Given the description of an element on the screen output the (x, y) to click on. 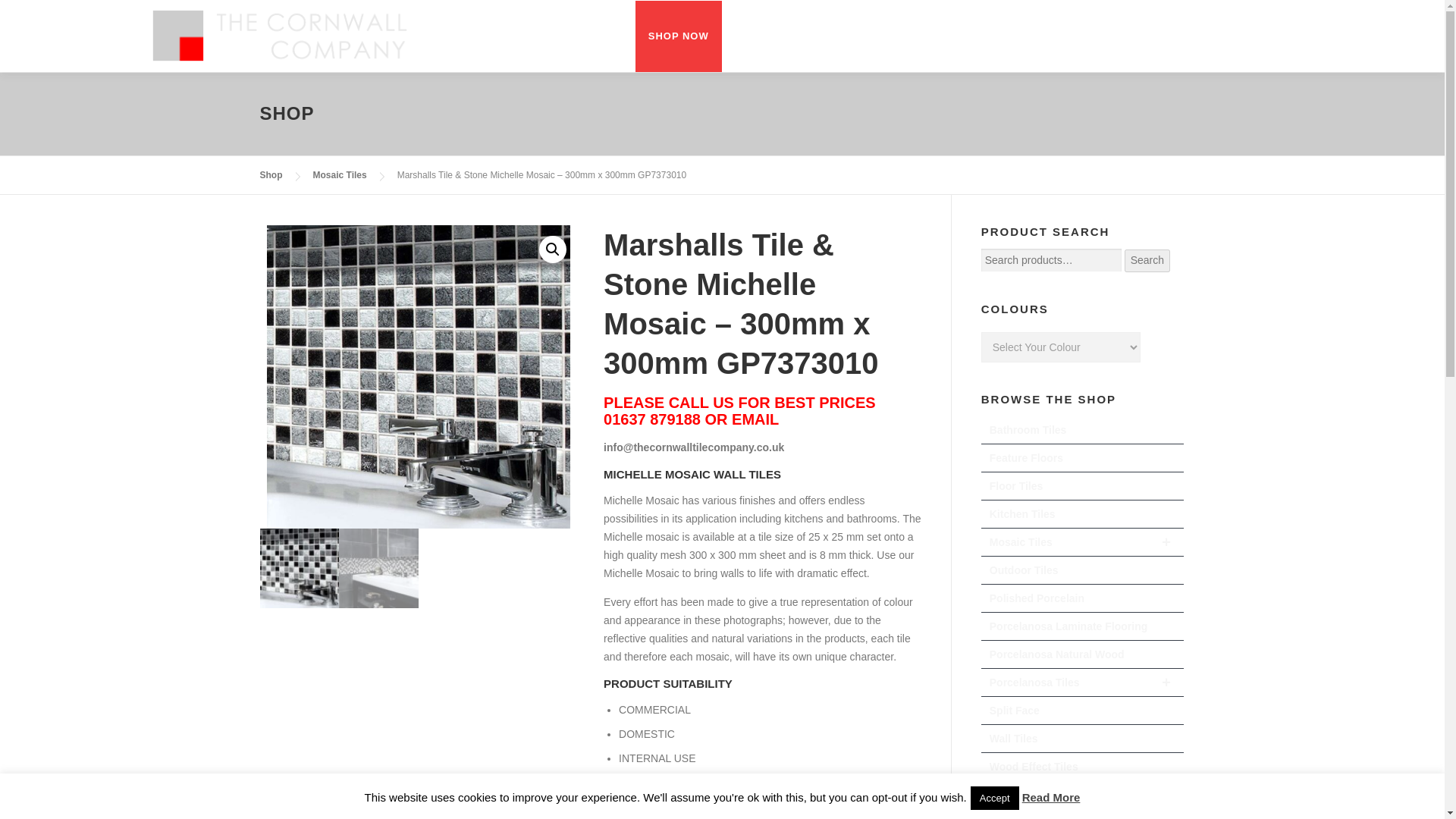
Bathroom Tiles (1083, 430)
Floor Tiles (1083, 486)
CONTACT (1185, 36)
THE SHOWROOM (1090, 36)
Kitchen Tiles (1083, 514)
TILES (814, 36)
Go to the Mosaic Tiles Product Category archives. (339, 174)
Feature Floors (1083, 458)
Outdoor Tiles (1083, 570)
BRANDS (881, 36)
HOME (754, 36)
Porcelanosa Natural Wood (1083, 654)
Porcelanosa Laminate Flooring (1083, 626)
Mosaic Tiles (339, 174)
Search (1147, 260)
